Given the description of an element on the screen output the (x, y) to click on. 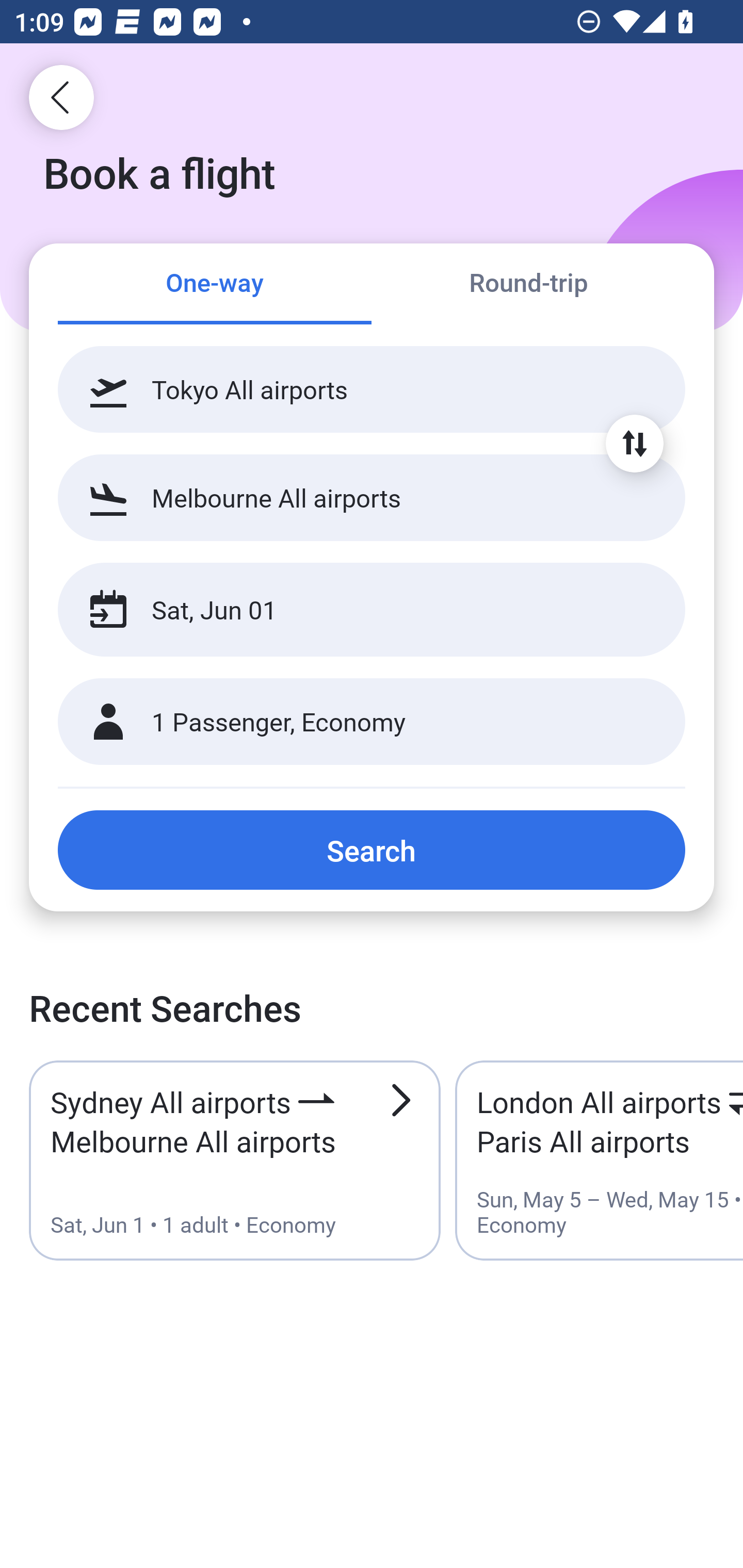
Round-trip (528, 284)
Tokyo All airports (371, 389)
Melbourne All airports (371, 497)
Sat, Jun 01 (349, 609)
1 Passenger, Economy (371, 721)
Search (371, 849)
